Given the description of an element on the screen output the (x, y) to click on. 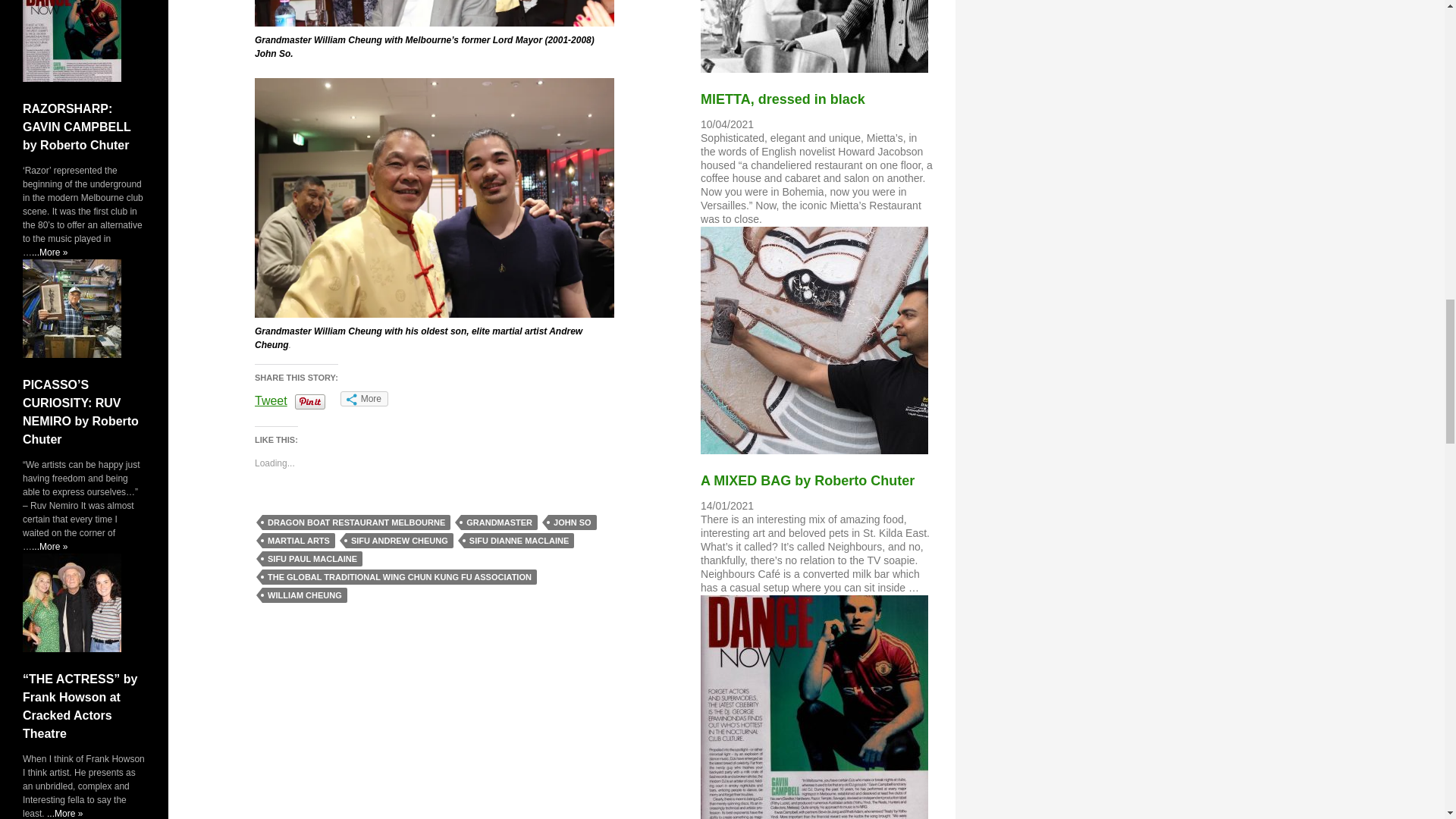
THE GLOBAL TRADITIONAL WING CHUN KUNG FU ASSOCIATION (399, 576)
DRAGON BOAT RESTAURANT MELBOURNE (355, 522)
More (364, 398)
SIFU DIANNE MACLAINE (518, 540)
Permalink to MIETTA, dressed in black (782, 99)
SIFU ANDREW CHEUNG (399, 540)
SIFU PAUL MACLAINE (312, 558)
JOHN SO (572, 522)
MARTIAL ARTS (298, 540)
Permalink to A MIXED BAG  by Roberto Chuter (807, 480)
